Given the description of an element on the screen output the (x, y) to click on. 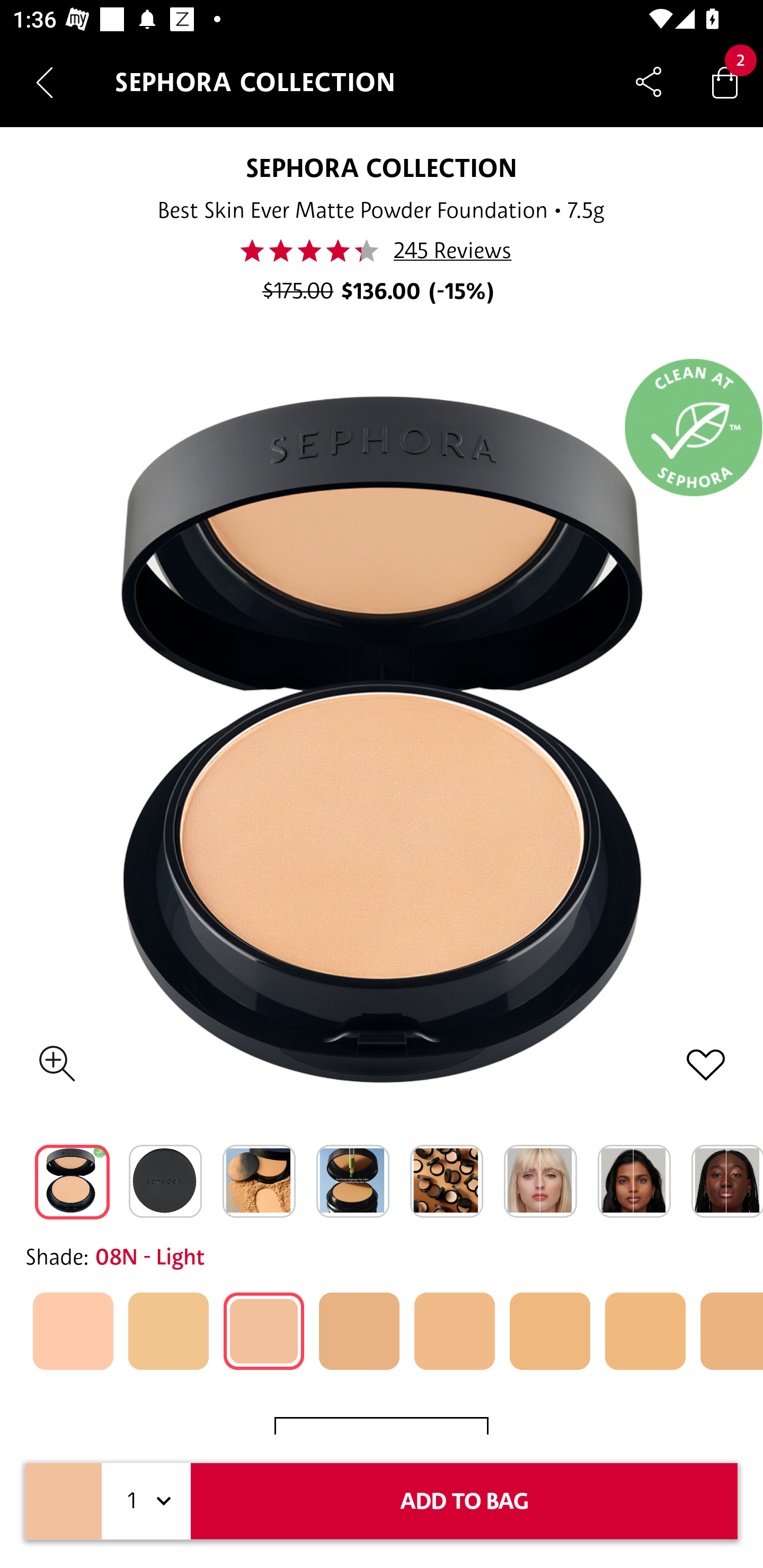
Navigate up (44, 82)
Share (648, 81)
Bag (724, 81)
SEPHORA COLLECTION (380, 167)
43.0 245 Reviews (381, 250)
1 (145, 1500)
ADD TO BAG (463, 1500)
